Given the description of an element on the screen output the (x, y) to click on. 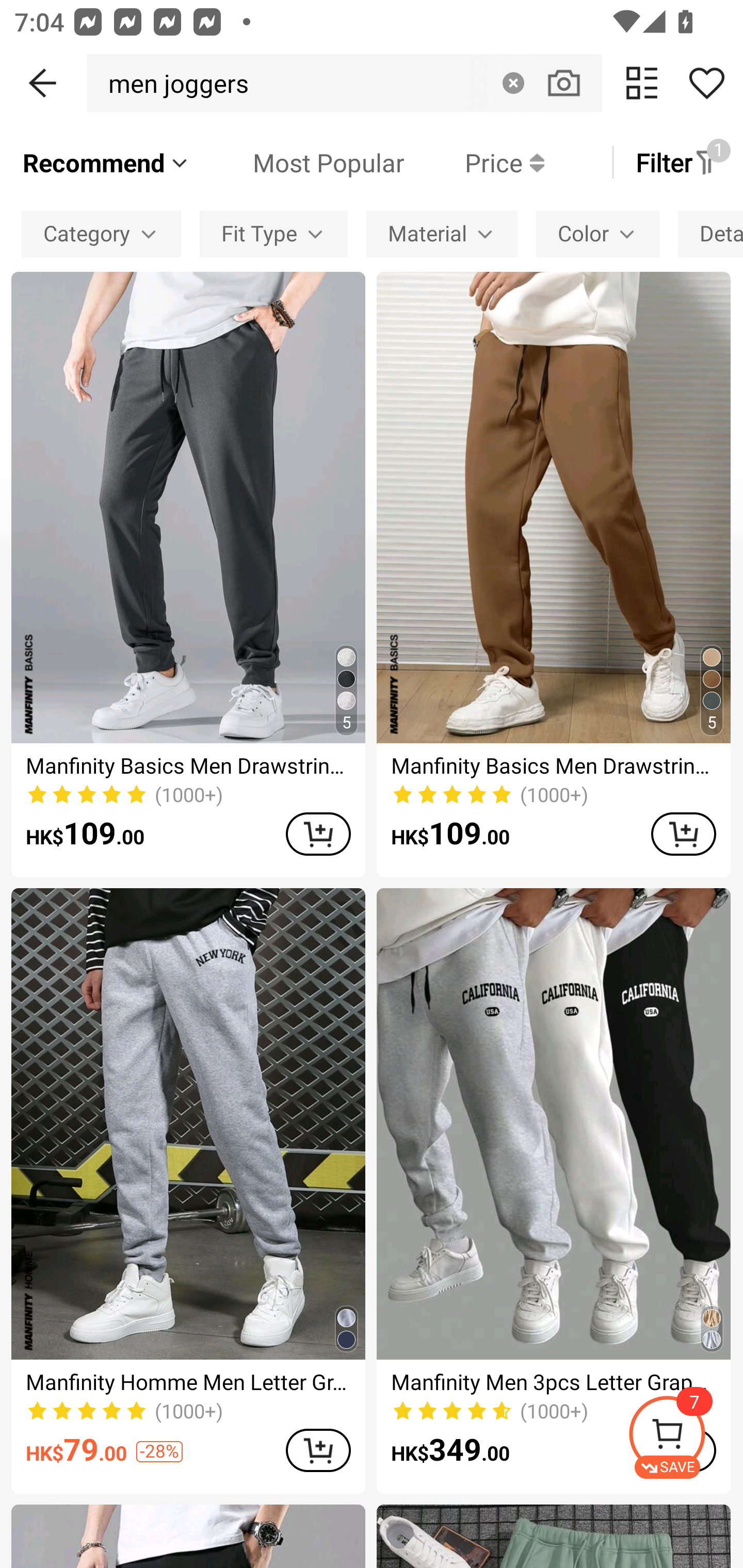
men joggers Clear (343, 82)
men joggers (172, 82)
Clear (513, 82)
change view (641, 82)
Share (706, 82)
Recommend (106, 162)
Most Popular (297, 162)
Price (474, 162)
Filter 1 (677, 162)
Category (101, 233)
Fit Type (273, 233)
Material (441, 233)
Color (597, 233)
ADD TO CART (318, 834)
ADD TO CART (683, 834)
SAVE (685, 1436)
ADD TO CART (318, 1450)
